Given the description of an element on the screen output the (x, y) to click on. 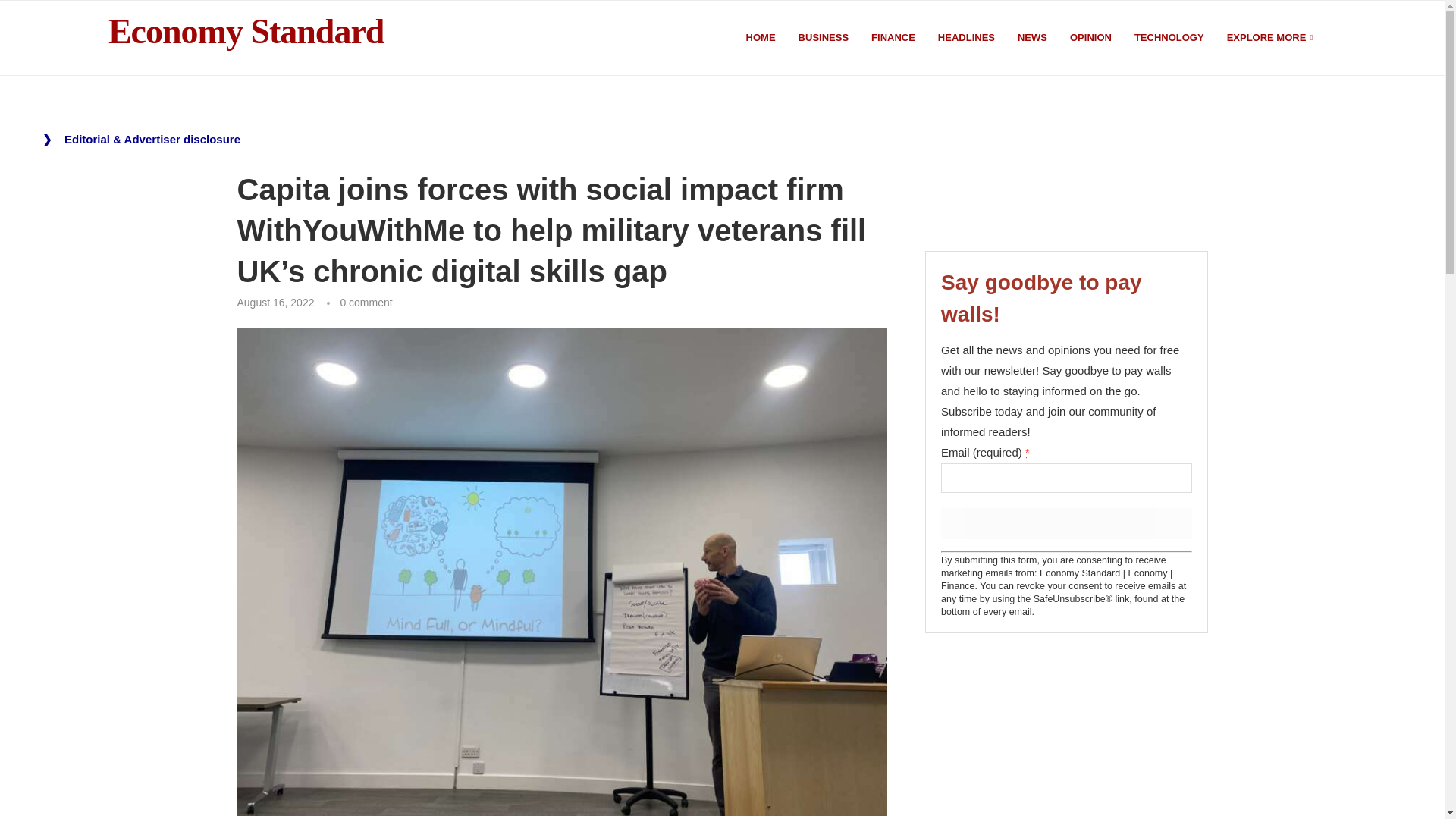
Sign up! (1065, 522)
EXPLORE MORE (1270, 38)
TECHNOLOGY (1169, 38)
Economy Standard (245, 31)
Sign up! (1065, 522)
